Given the description of an element on the screen output the (x, y) to click on. 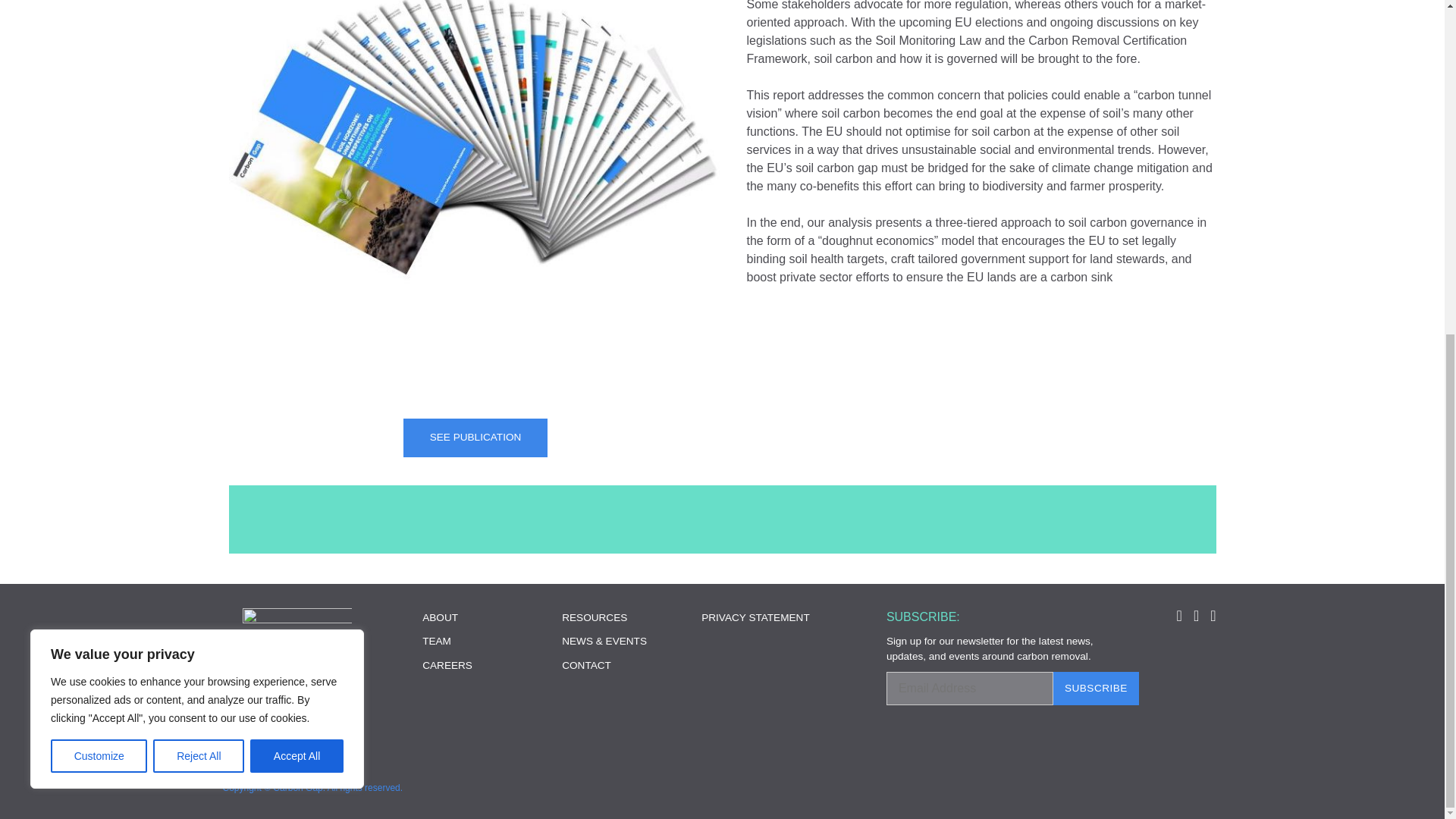
Subscribe (1095, 688)
Accept All (296, 196)
ABOUT (440, 617)
SEE PUBLICATION (475, 437)
Customize (98, 196)
Reject All (198, 196)
